Given the description of an element on the screen output the (x, y) to click on. 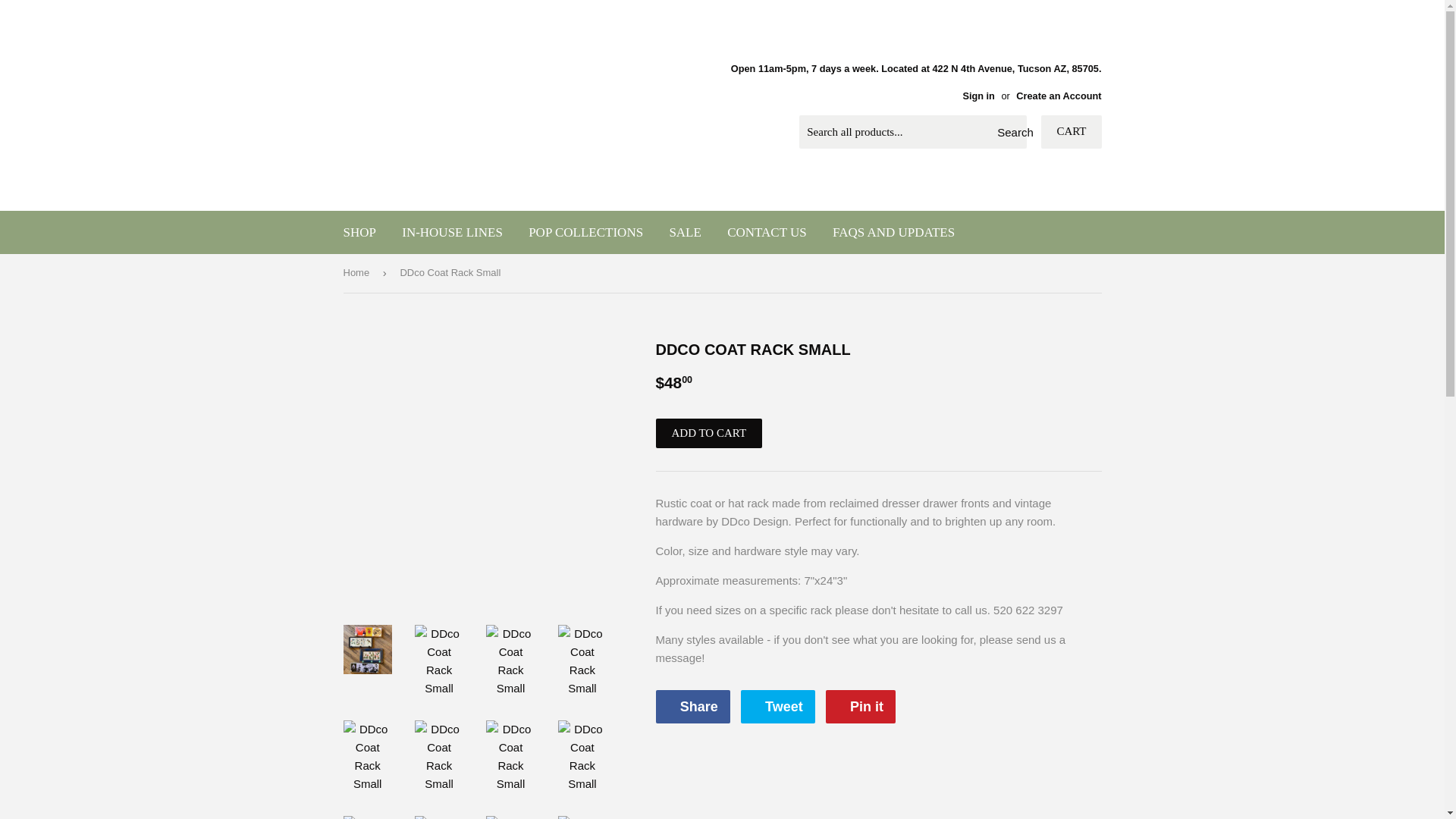
FAQS AND UPDATES (893, 231)
IN-HOUSE LINES (451, 231)
Sign in (978, 95)
CONTACT US (767, 231)
SHOP (359, 231)
Share on Facebook (692, 706)
Tweet on Twitter (778, 706)
SALE (685, 231)
Pin on Pinterest (860, 706)
POP COLLECTIONS (584, 231)
Search (1009, 132)
CART (1070, 131)
Create an Account (1058, 95)
